Given the description of an element on the screen output the (x, y) to click on. 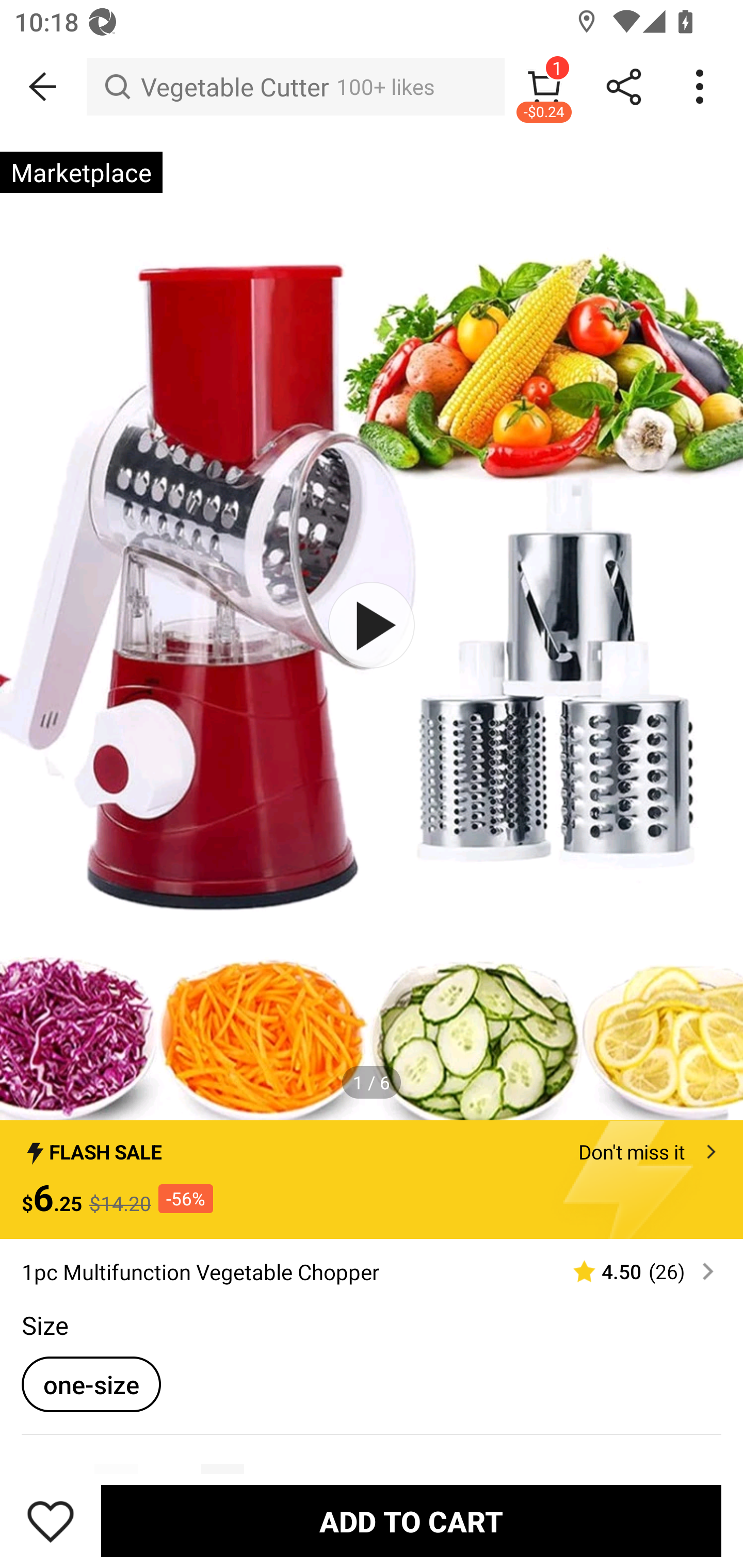
BACK (43, 86)
1 -$0.24 (543, 87)
Vegetable Cutter 100+ likes (295, 87)
1 / 6 (371, 1082)
FLASH SALE Don't miss it $6.25 $14.20 -56% (371, 1178)
FLASH SALE Don't miss it (371, 1145)
4.50 (26) (635, 1271)
Size (44, 1324)
one-size one-sizeselected option (91, 1384)
ADD TO CART (411, 1520)
Save (50, 1520)
